Given the description of an element on the screen output the (x, y) to click on. 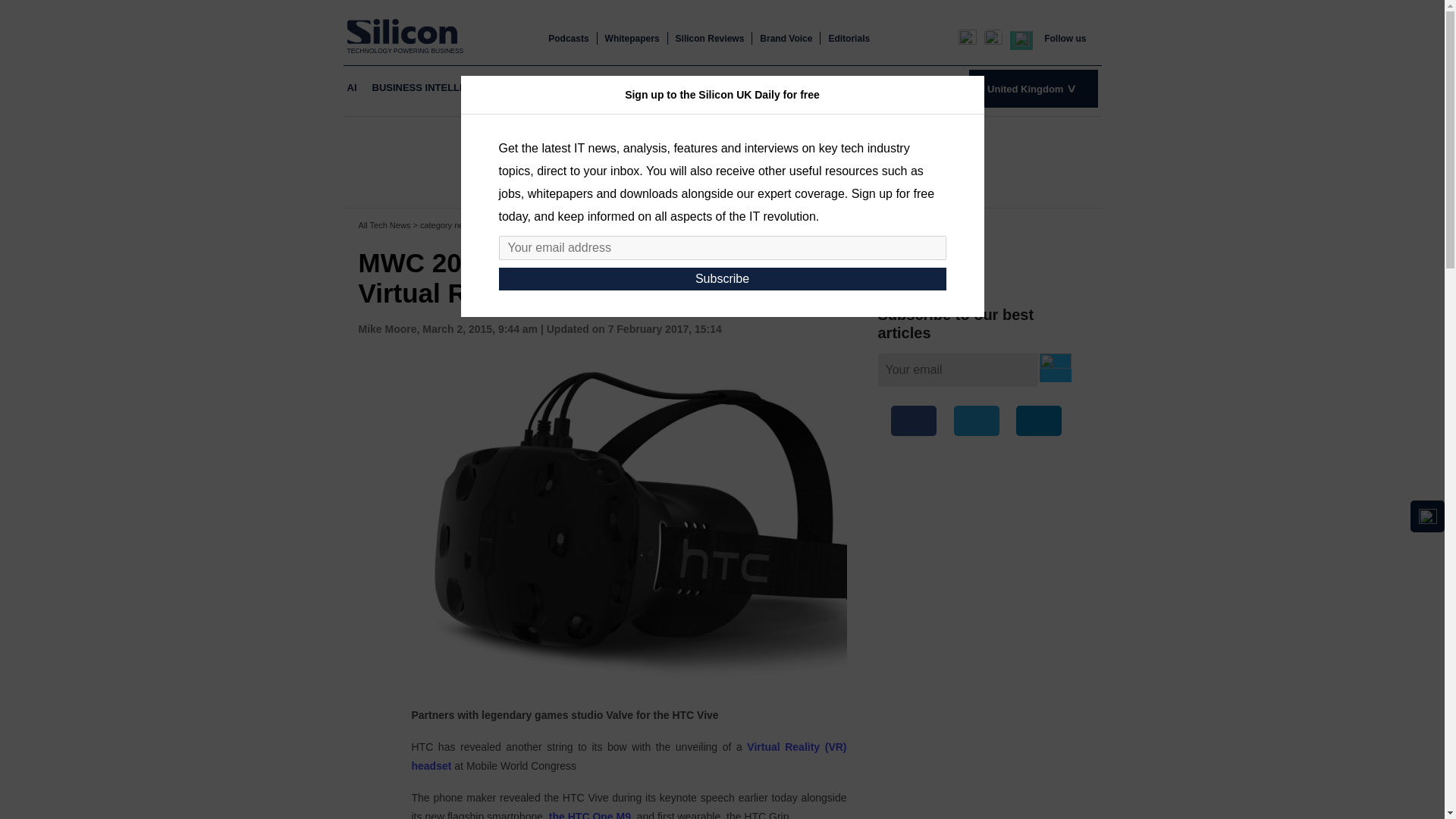
Whitepapers (632, 38)
BUSINESS INTELLIGENCE (434, 87)
Silicon Reviews (709, 38)
SECURITY (853, 87)
CLOUD (529, 87)
DIGITAL TRANSFORMATION (629, 87)
Editorials (848, 38)
Podcasts (568, 38)
United Kingdom (1033, 88)
